Given the description of an element on the screen output the (x, y) to click on. 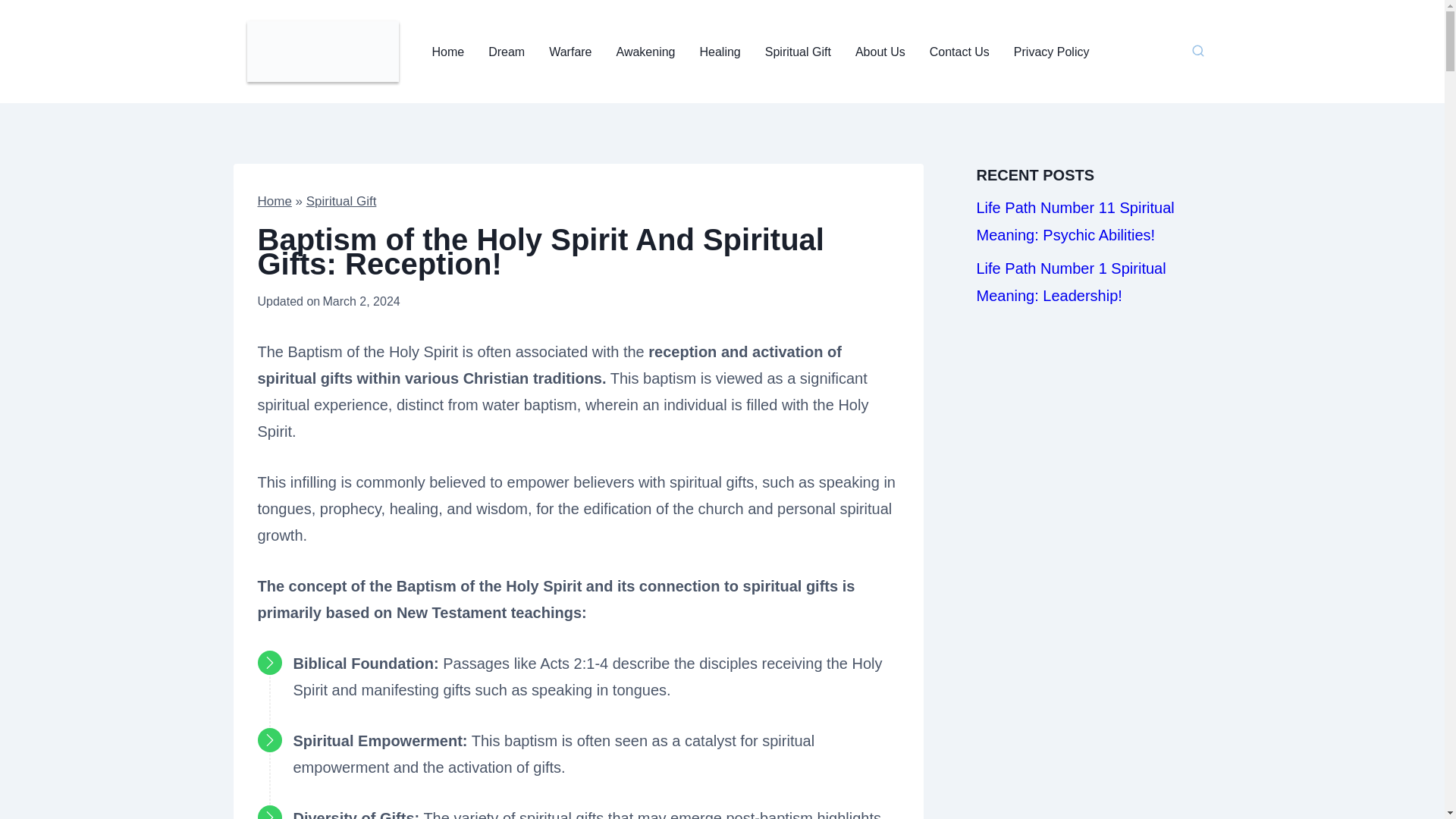
Spiritual Gift (797, 51)
Warfare (570, 51)
Contact Us (959, 51)
Awakening (645, 51)
Privacy Policy (1051, 51)
Home (274, 201)
Spiritual Gift (341, 201)
Dream (506, 51)
Healing (719, 51)
About Us (880, 51)
Home (448, 51)
